Given the description of an element on the screen output the (x, y) to click on. 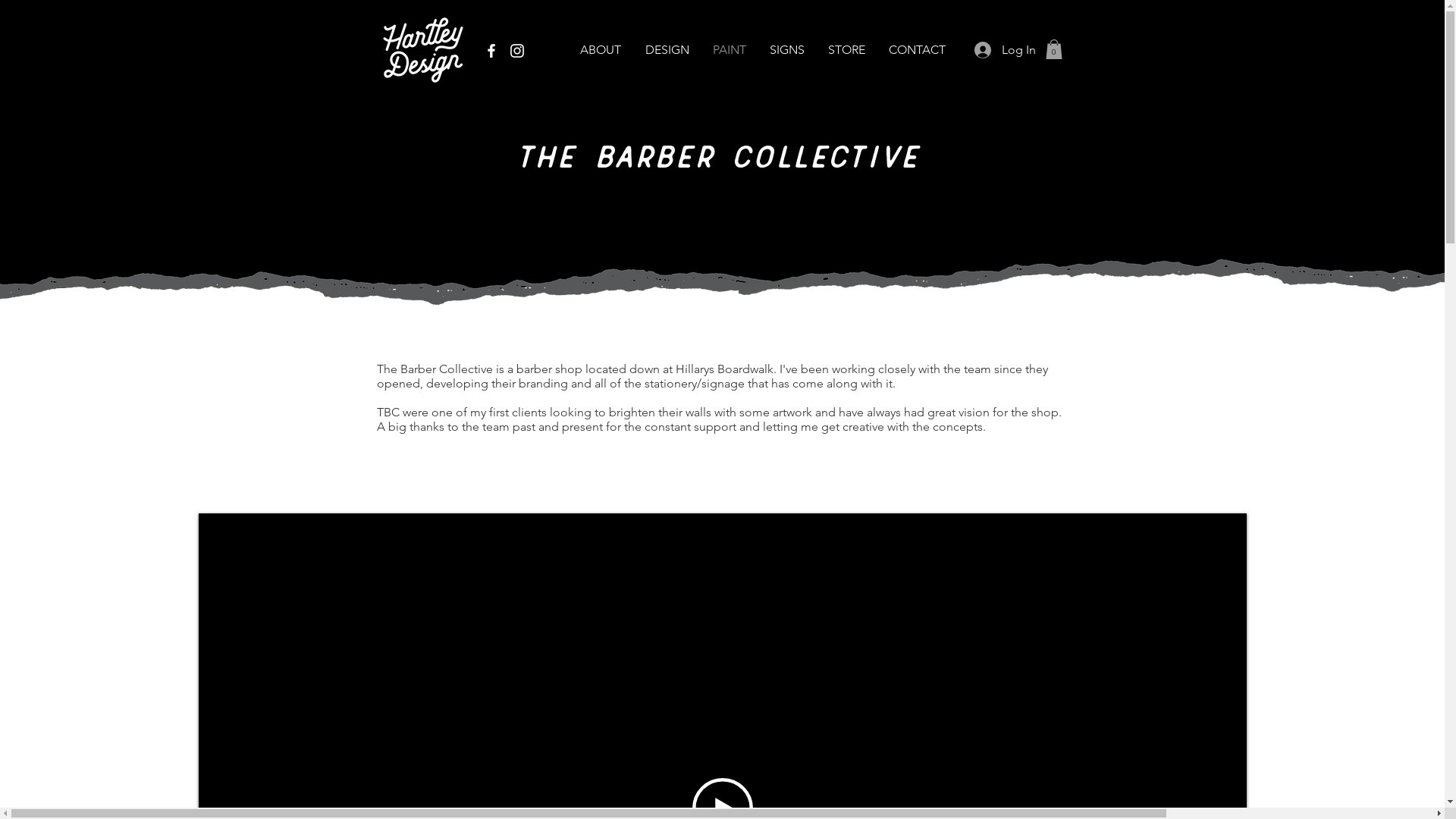
CONTACT Element type: text (916, 49)
ABOUT Element type: text (599, 49)
PAINT Element type: text (728, 49)
Log In Element type: text (1000, 49)
DESIGN Element type: text (666, 49)
0 Element type: text (1052, 49)
SIGNS Element type: text (787, 49)
STORE Element type: text (845, 49)
